Given the description of an element on the screen output the (x, y) to click on. 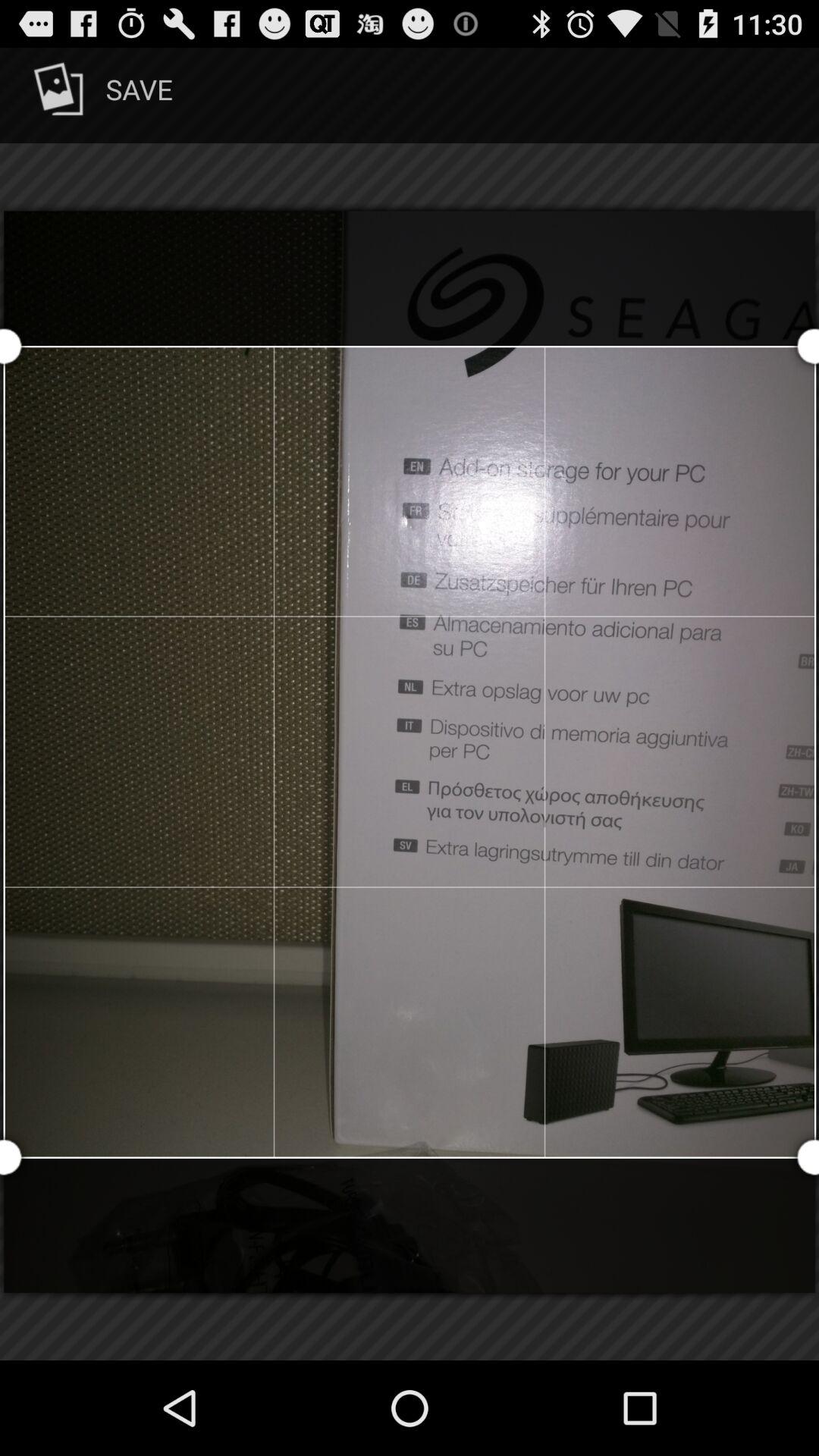
jump until the save (100, 95)
